Given the description of an element on the screen output the (x, y) to click on. 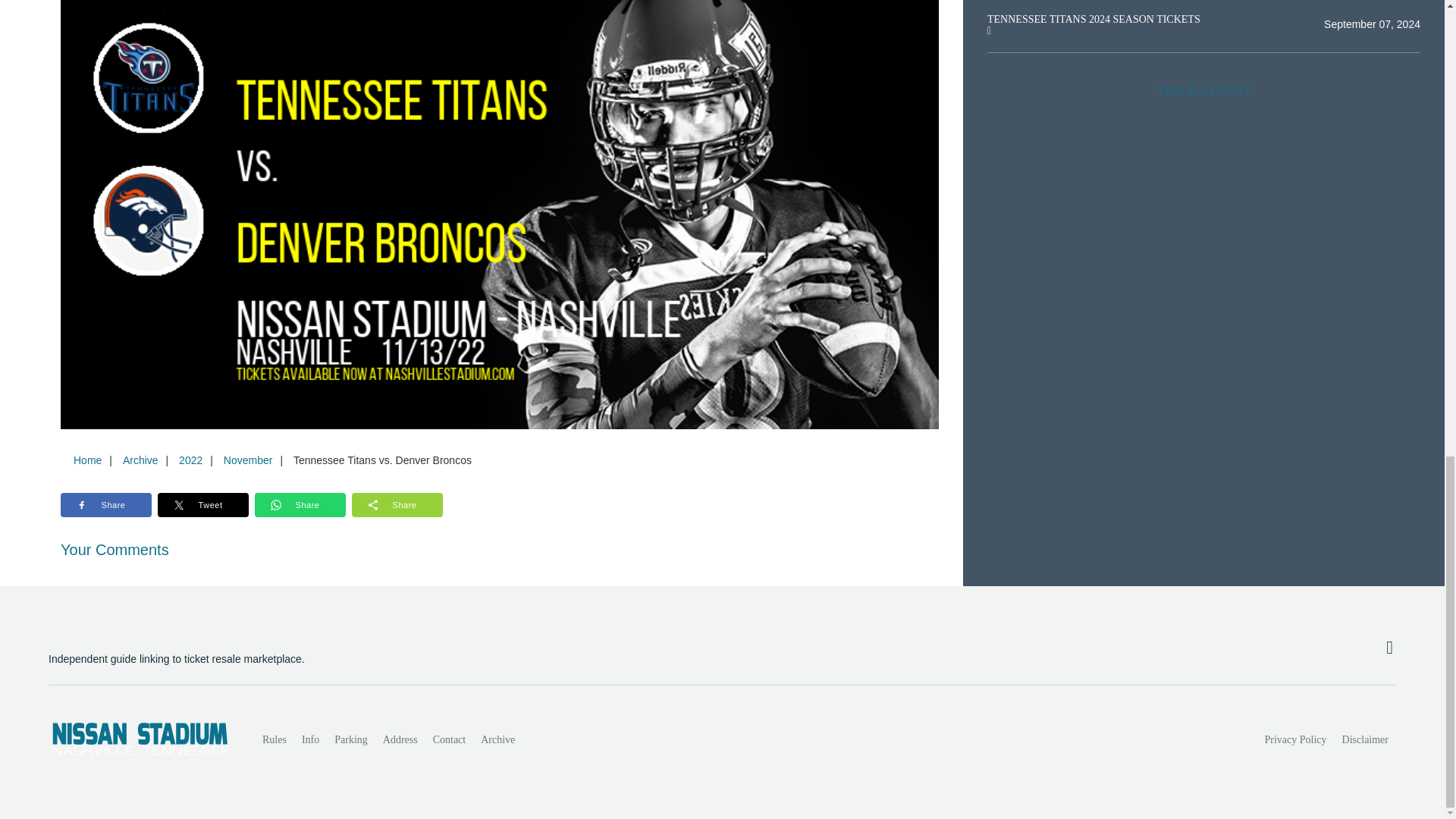
VIEW ALL EVENTS (1203, 91)
Disclaimer (1365, 739)
Parking (350, 739)
2022 (190, 460)
Address (400, 739)
Rules (274, 739)
Info (310, 739)
Home (87, 460)
Contact (449, 739)
Privacy Policy (1296, 739)
TENNESSEE TITANS 2024 SEASON TICKETS (1093, 19)
Archive (497, 739)
Archive (140, 460)
November (248, 460)
